Given the description of an element on the screen output the (x, y) to click on. 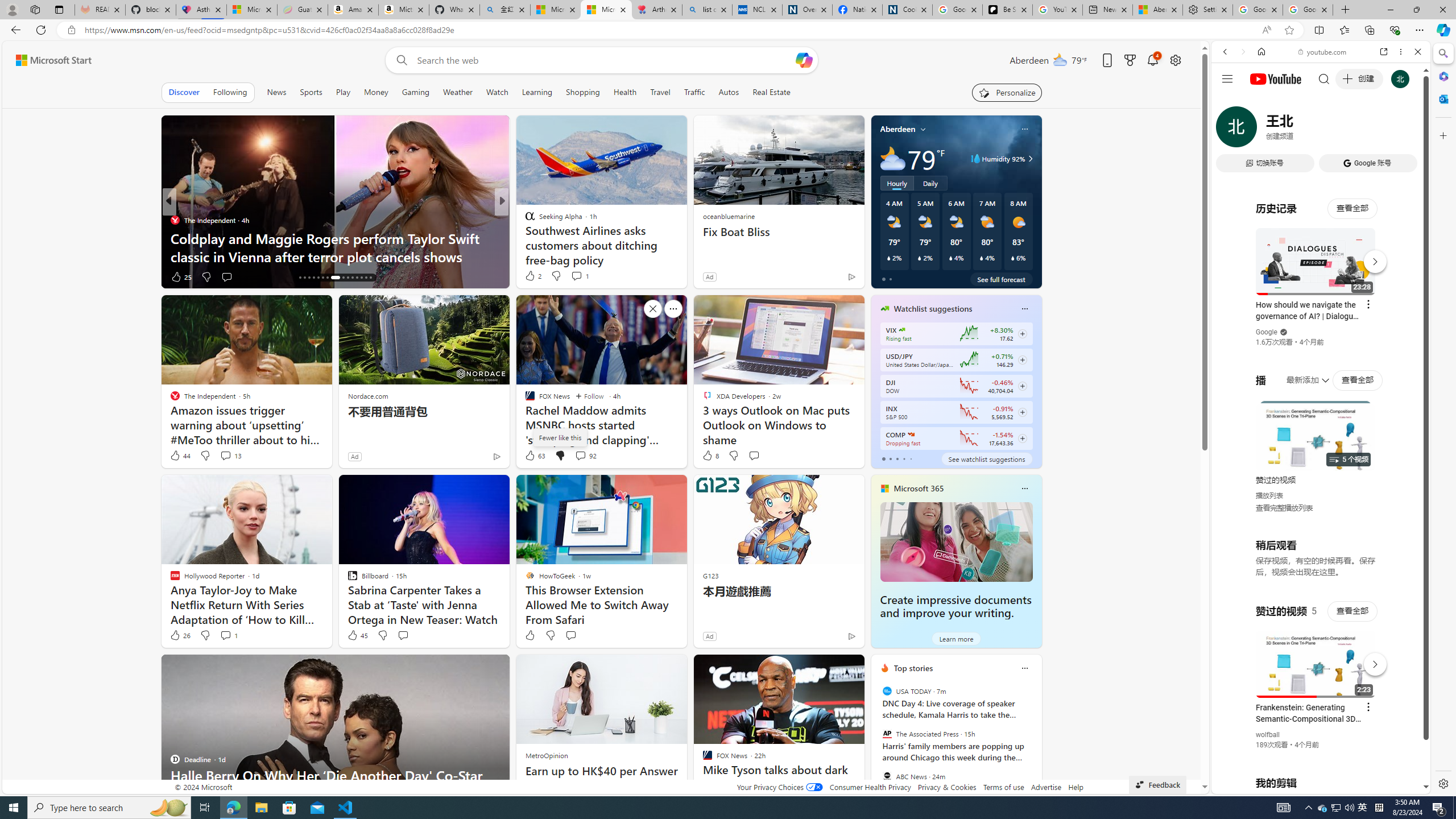
View comments 1 Comment (225, 635)
Like (529, 634)
Sports (310, 92)
Class: weather-arrow-glyph (1029, 158)
Health (624, 92)
Home (1261, 51)
Class: dict_pnIcon rms_img (1312, 784)
Top stories (913, 668)
App bar (728, 29)
